Given the description of an element on the screen output the (x, y) to click on. 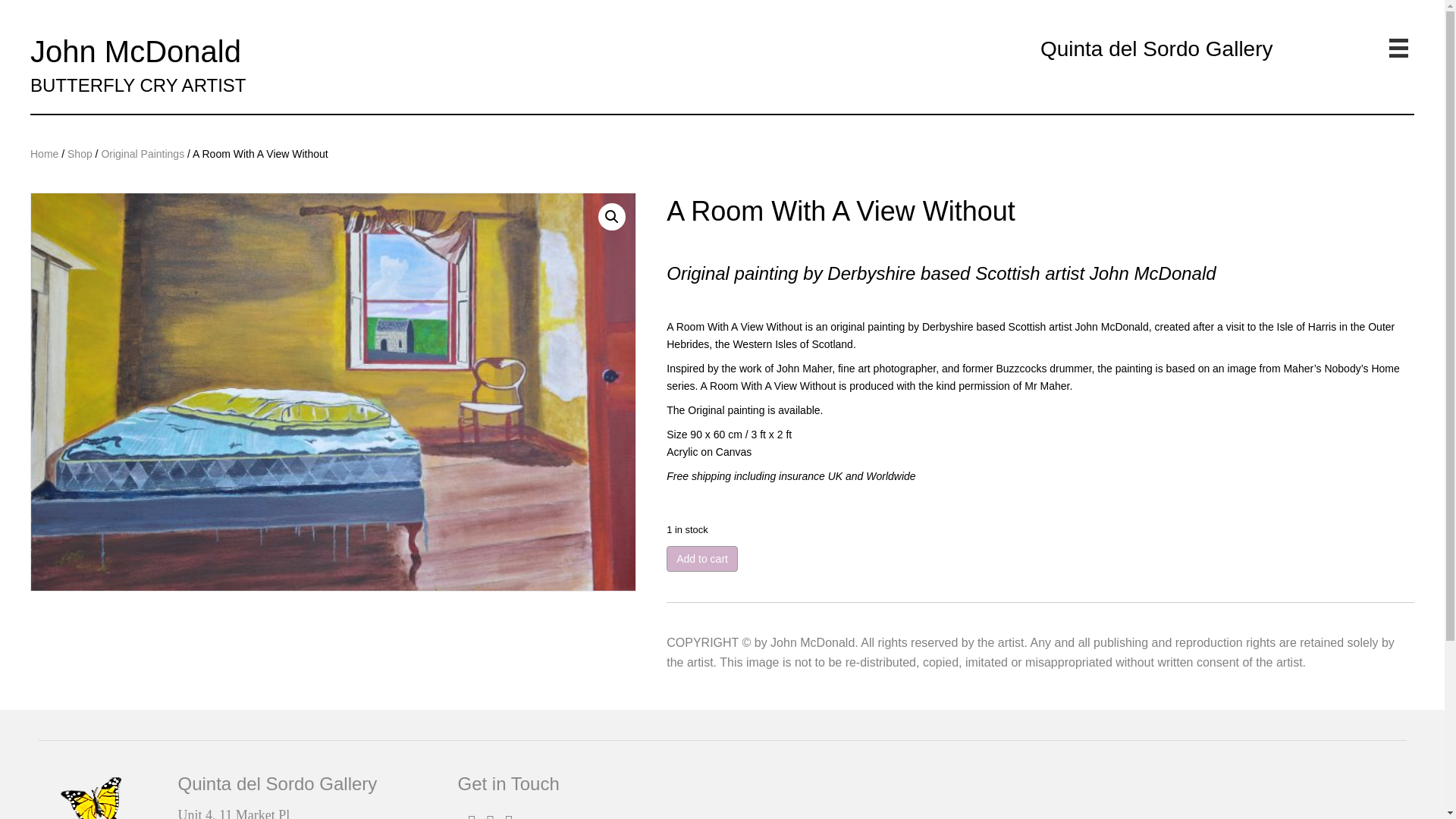
John McDonald (135, 51)
Shop (79, 153)
Original Paintings (142, 153)
Add to cart (702, 558)
Quinta del Sordo Gallery (1156, 48)
Quinta del Sordo Gallery (1156, 48)
Home (44, 153)
John McDonald (135, 51)
